Given the description of an element on the screen output the (x, y) to click on. 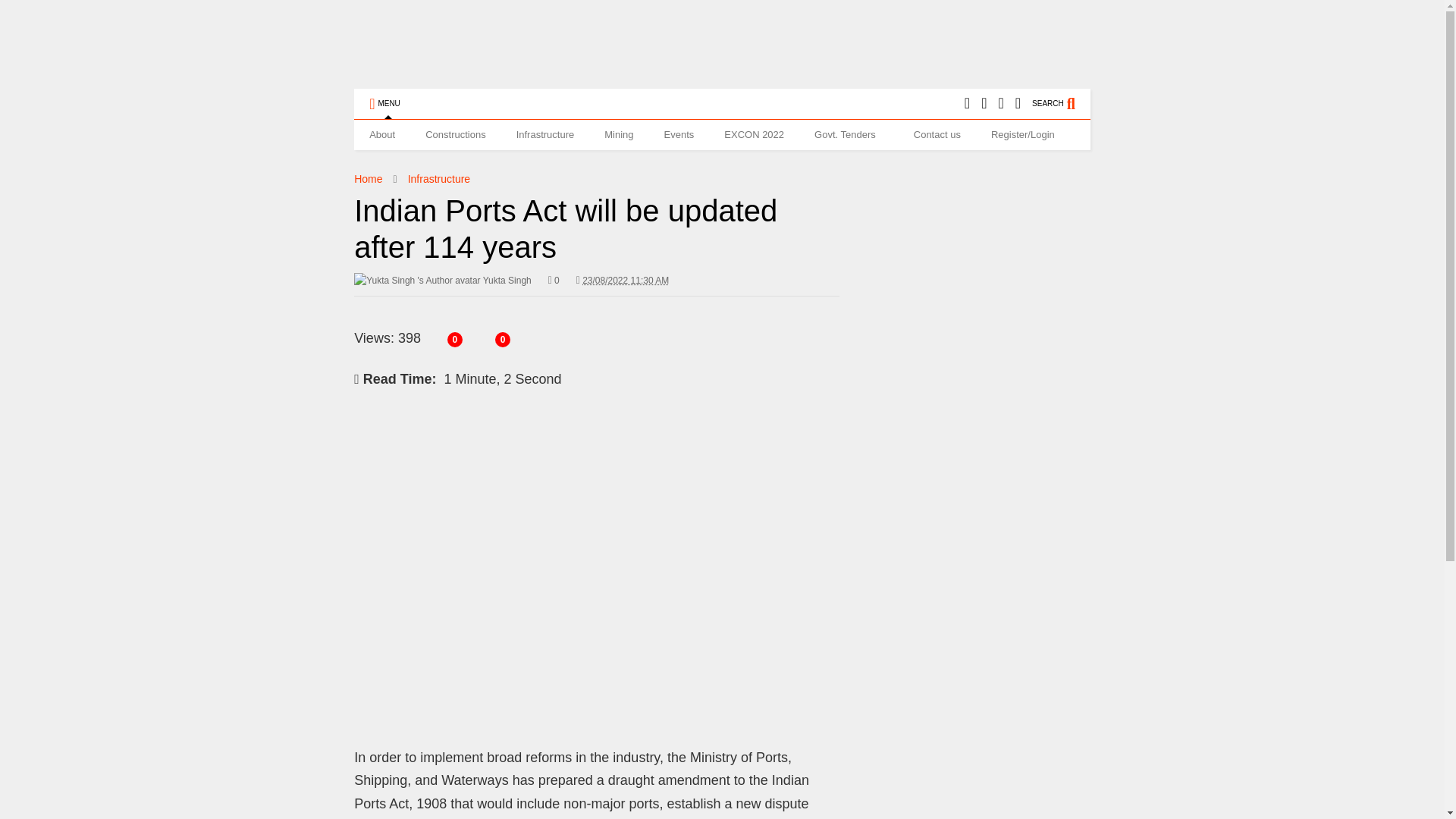
Home (367, 178)
Infrastructure (438, 178)
Constructions (455, 134)
Events (679, 134)
MENU (383, 103)
Yukta Singh (442, 280)
Yukta Singh (442, 280)
Mining (618, 134)
About (381, 134)
EXCON 2022 (754, 134)
